Given the description of an element on the screen output the (x, y) to click on. 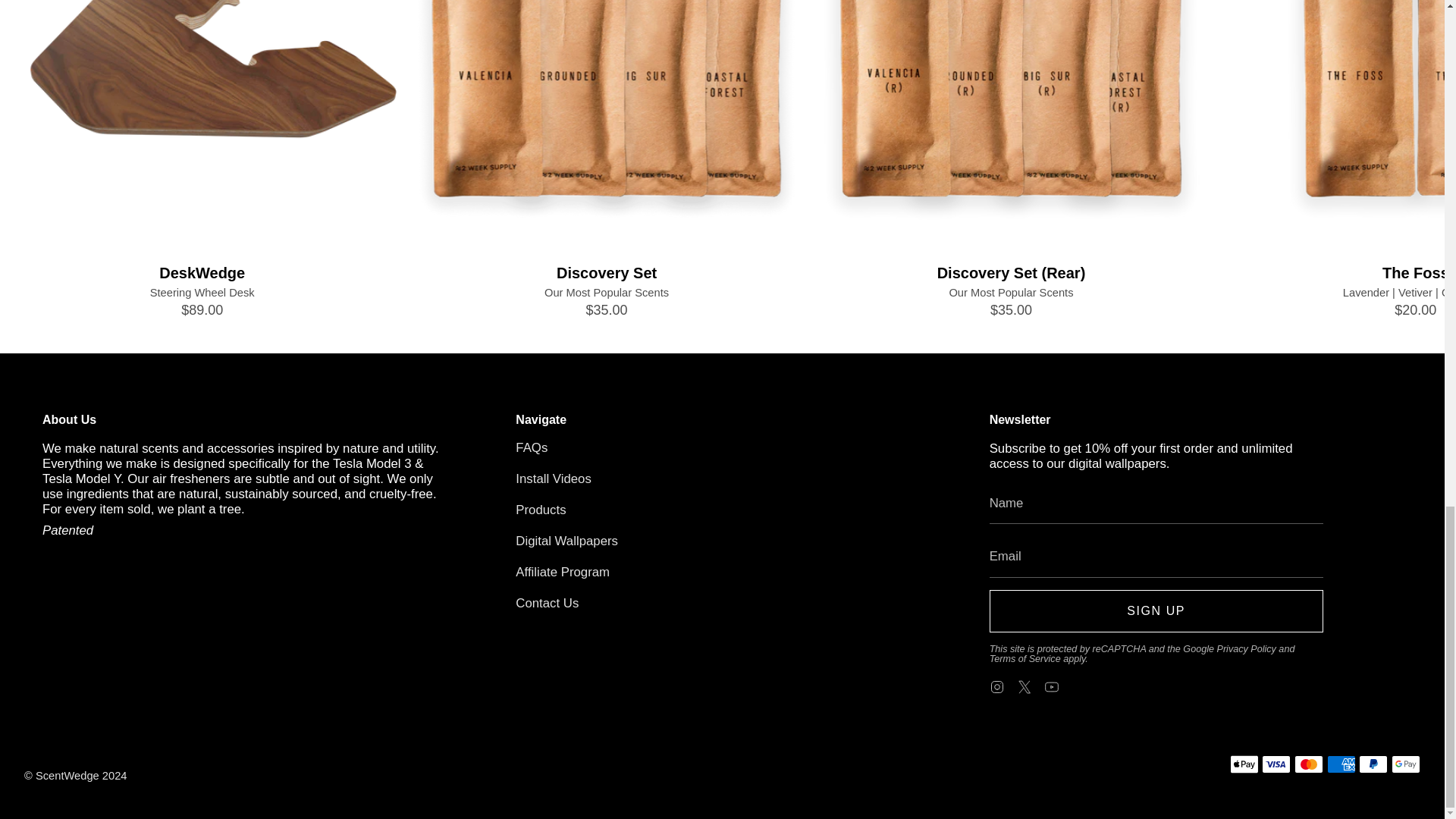
Apple Pay (1244, 764)
PayPal (1372, 764)
Google Pay (1406, 764)
ScentWedge on Twitter (1024, 685)
Mastercard (1308, 764)
Visa (1276, 764)
ScentWedge on Instagram (997, 685)
American Express (1340, 764)
ScentWedge on YouTube (1051, 685)
